Given the description of an element on the screen output the (x, y) to click on. 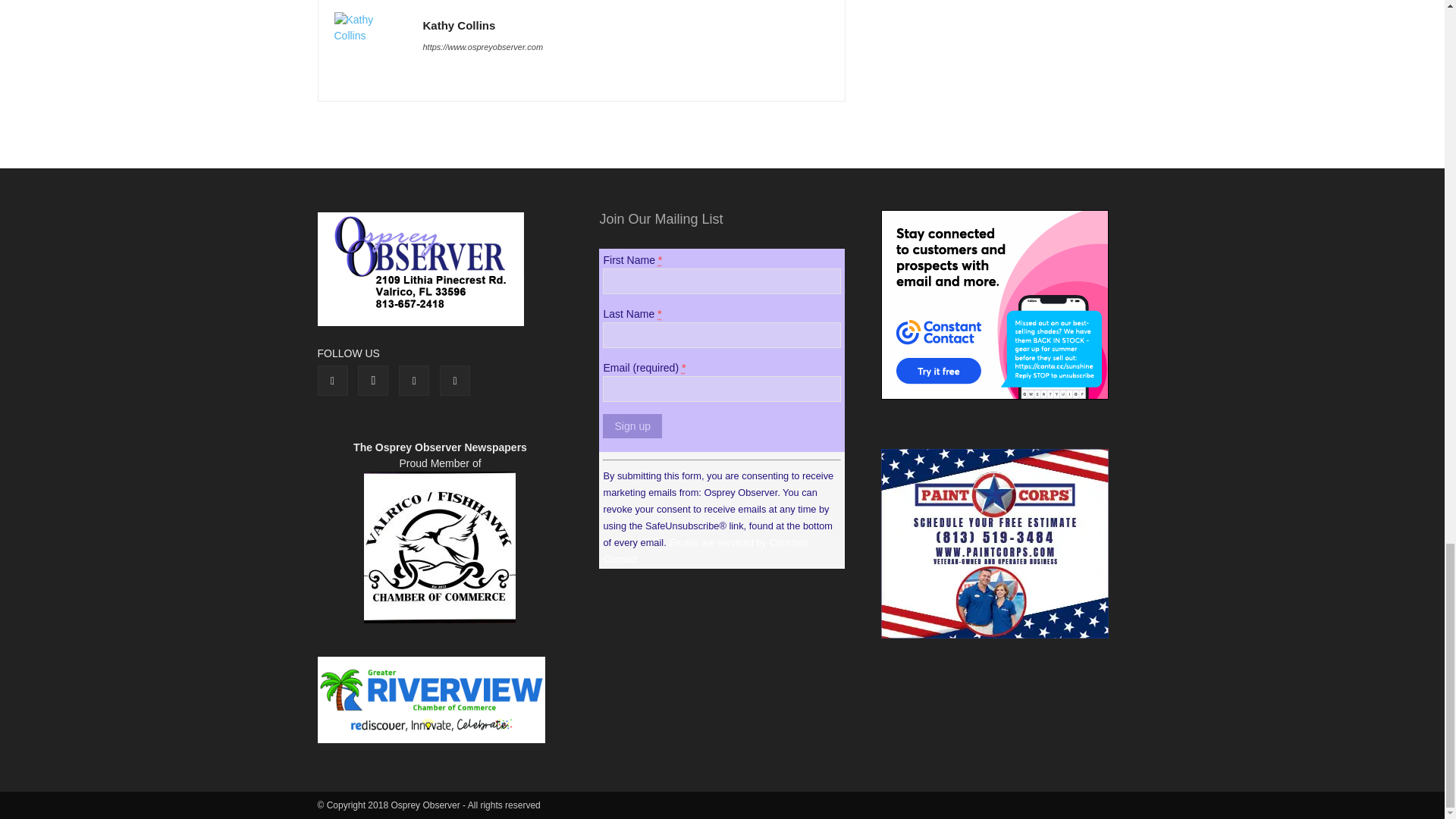
Sign up (631, 426)
